Given the description of an element on the screen output the (x, y) to click on. 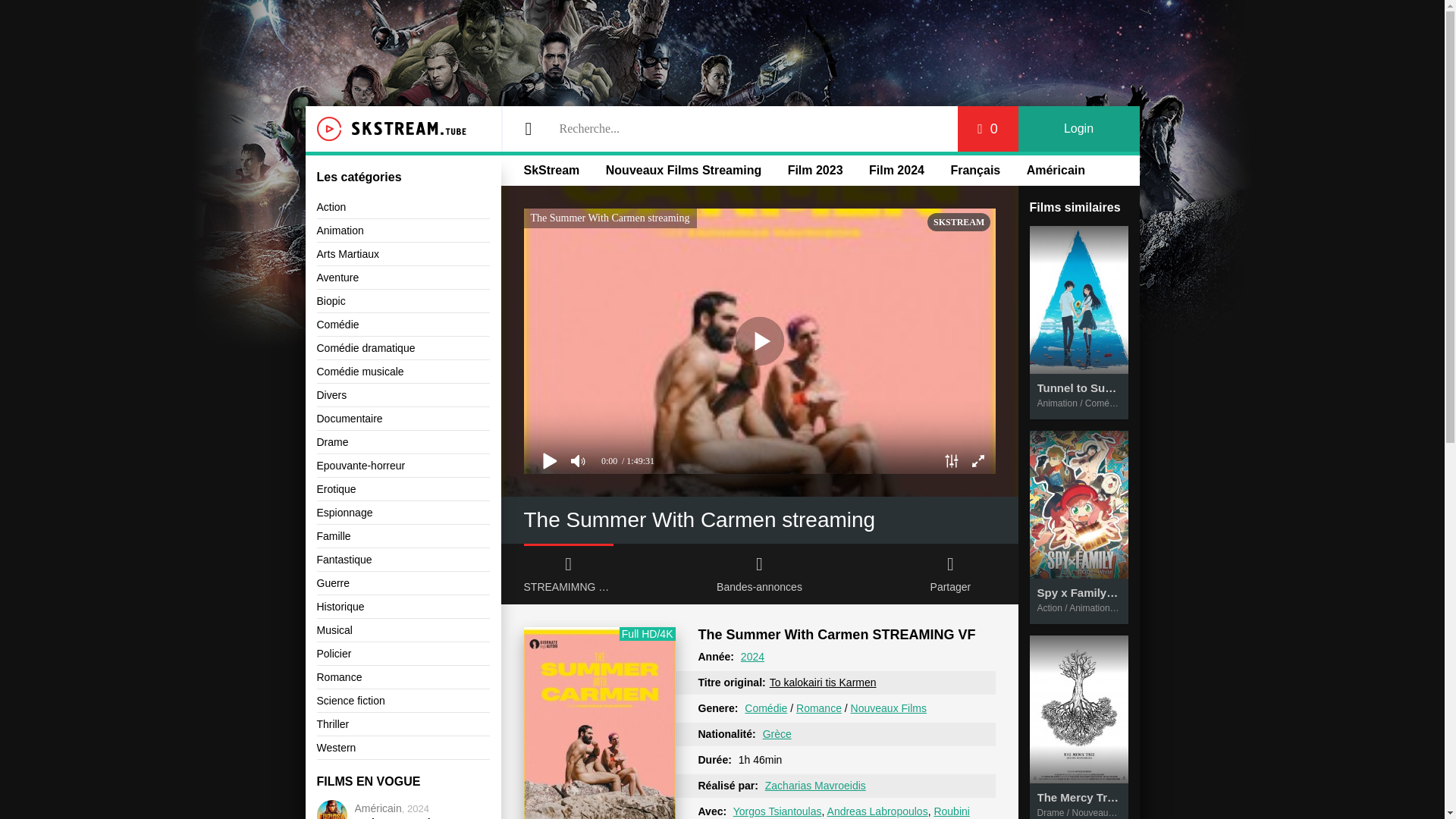
Aventure (403, 277)
Biopic (403, 300)
Guerre (403, 583)
Roubini Vasilakopoulou (833, 812)
Famille (403, 535)
Zacharias Mavroeidis (815, 785)
Animation (403, 230)
Film 2023 (815, 169)
Arts Martiaux (403, 254)
Epouvante-horreur (403, 465)
Nouveaux Films Streaming (683, 169)
Espionnage (403, 512)
Erotique (403, 489)
Action (403, 207)
Yorgos Tsiantoulas (777, 811)
